Given the description of an element on the screen output the (x, y) to click on. 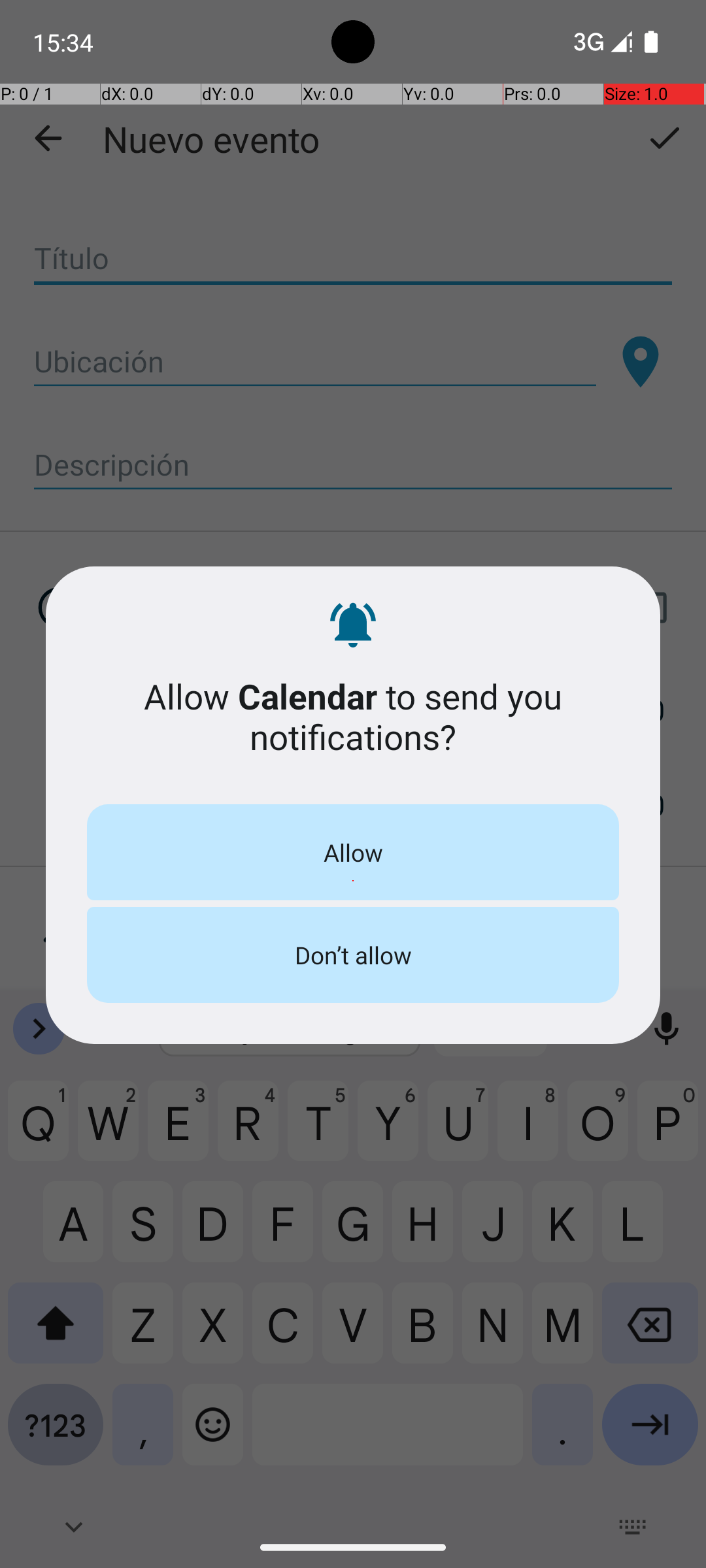
Allow Calendar to send you notifications? Element type: android.widget.TextView (352, 715)
Allow Element type: android.widget.Button (352, 852)
Don’t allow Element type: android.widget.Button (352, 954)
